Given the description of an element on the screen output the (x, y) to click on. 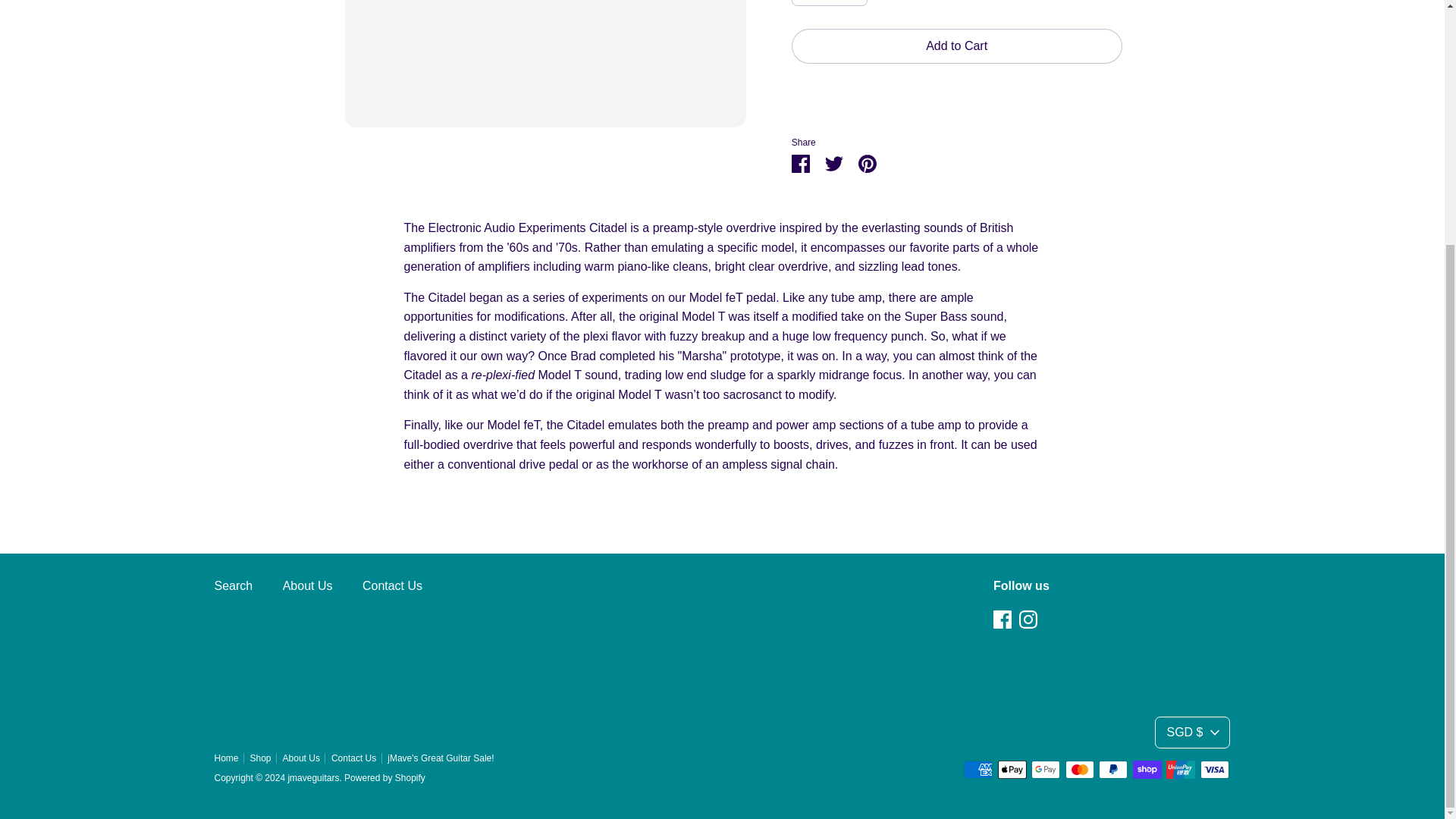
Mastercard (1079, 769)
Shop Pay (1146, 769)
PayPal (1112, 769)
Google Pay (1044, 769)
Union Pay (1180, 769)
Visa (1213, 769)
Apple Pay (1011, 769)
American Express (977, 769)
